Given the description of an element on the screen output the (x, y) to click on. 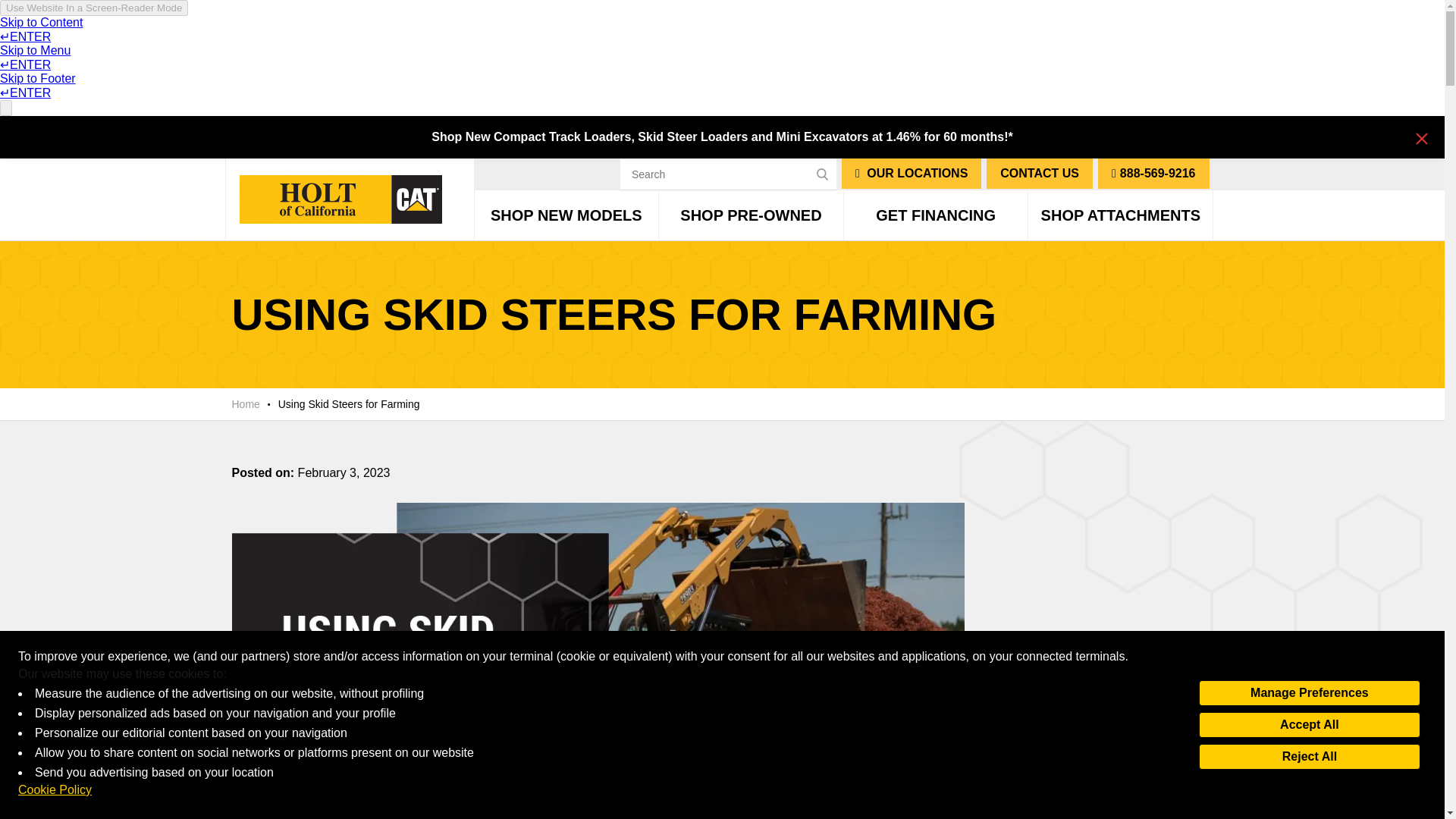
Search (728, 173)
SHOP PRE-OWNED (751, 215)
888-569-9216 (1152, 173)
Manage Preferences (1309, 692)
Cookie Policy (54, 789)
OUR LOCATIONS (911, 173)
CONTACT US (1040, 173)
SHOP ATTACHMENTS (1119, 215)
SHOP NEW MODELS (566, 215)
GET FINANCING (935, 215)
Accept All (1309, 724)
Reject All (1309, 756)
